Given the description of an element on the screen output the (x, y) to click on. 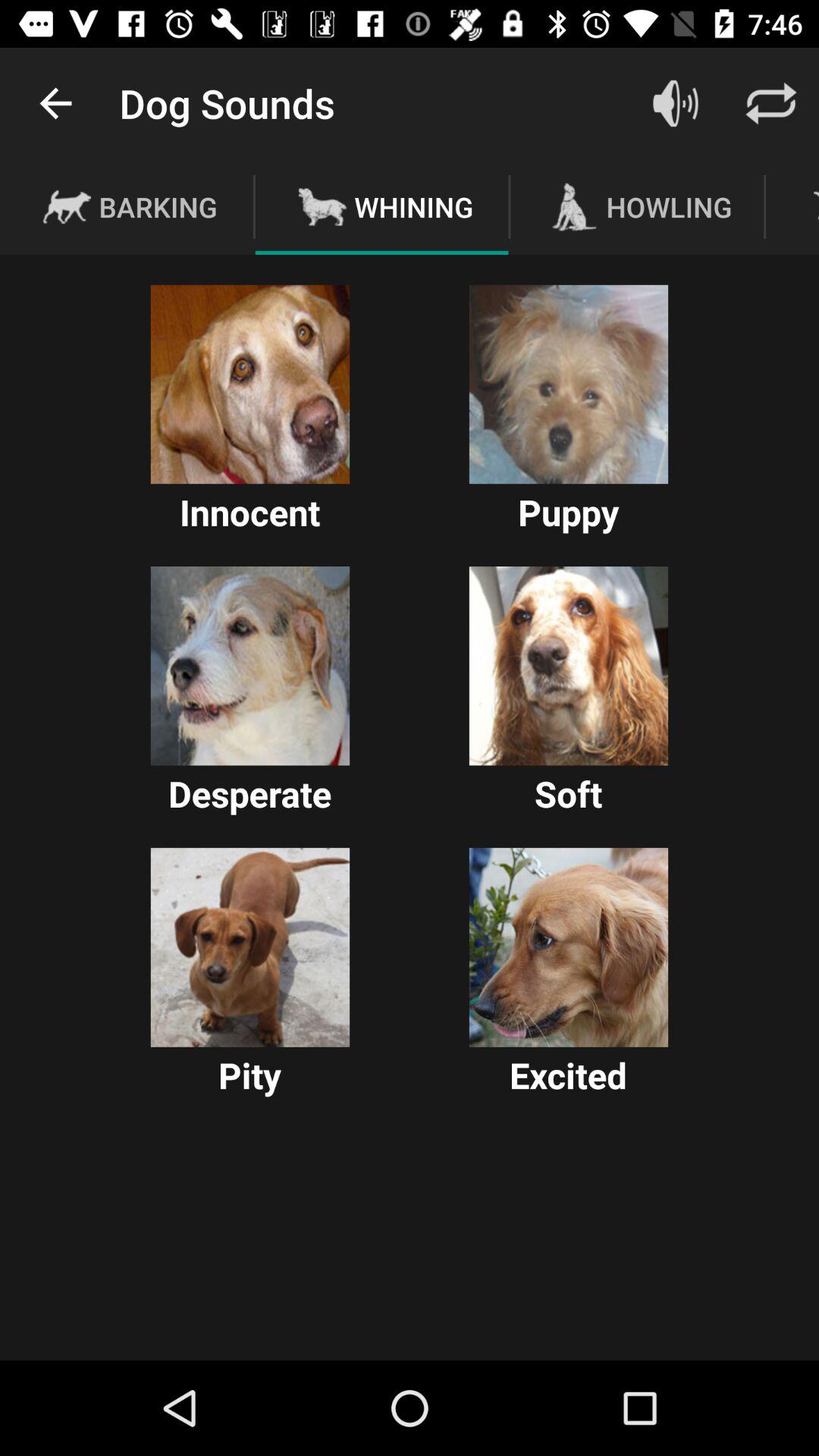
launch icon above the barking (55, 103)
